Given the description of an element on the screen output the (x, y) to click on. 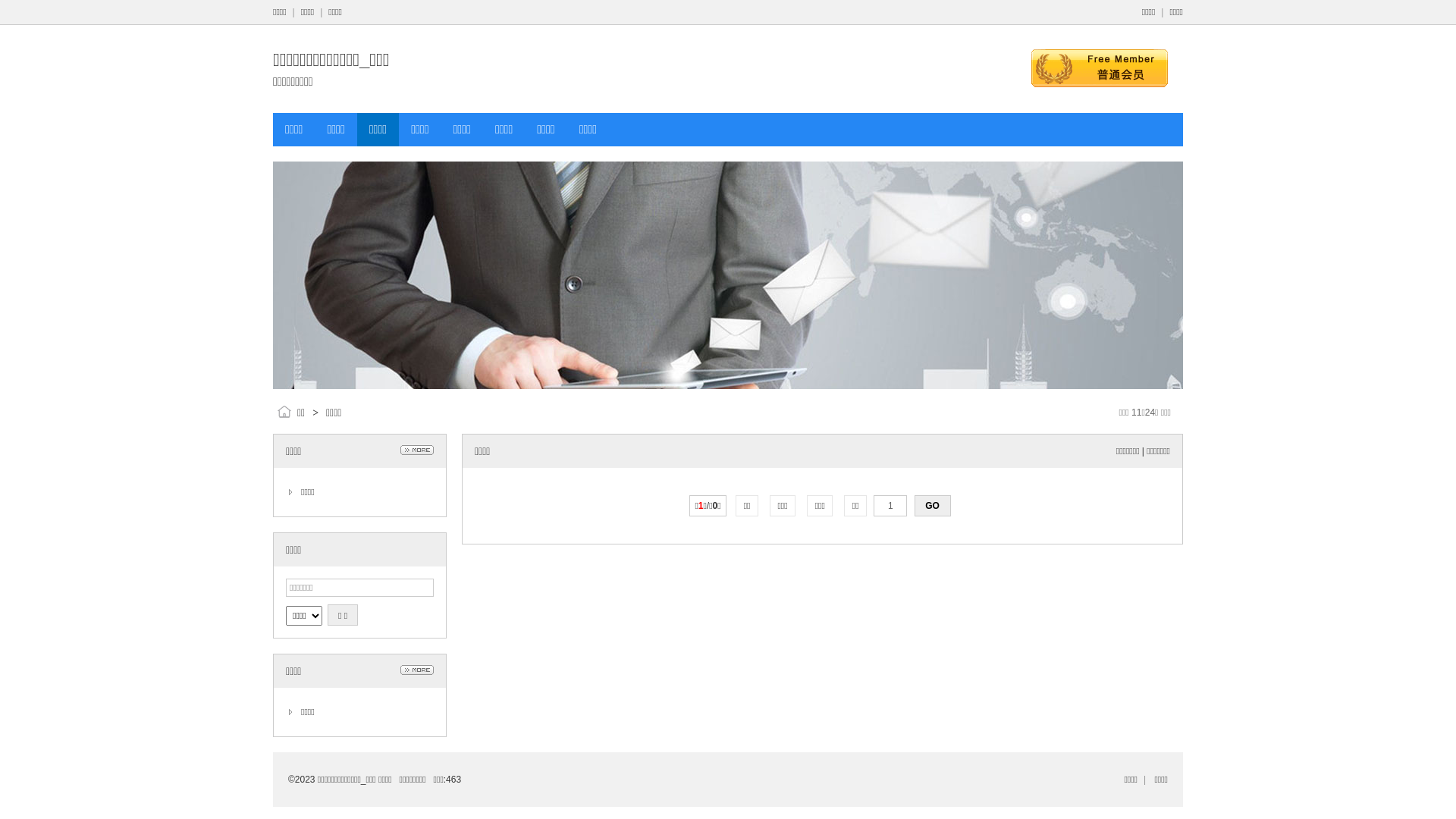
GO Element type: text (932, 505)
